Given the description of an element on the screen output the (x, y) to click on. 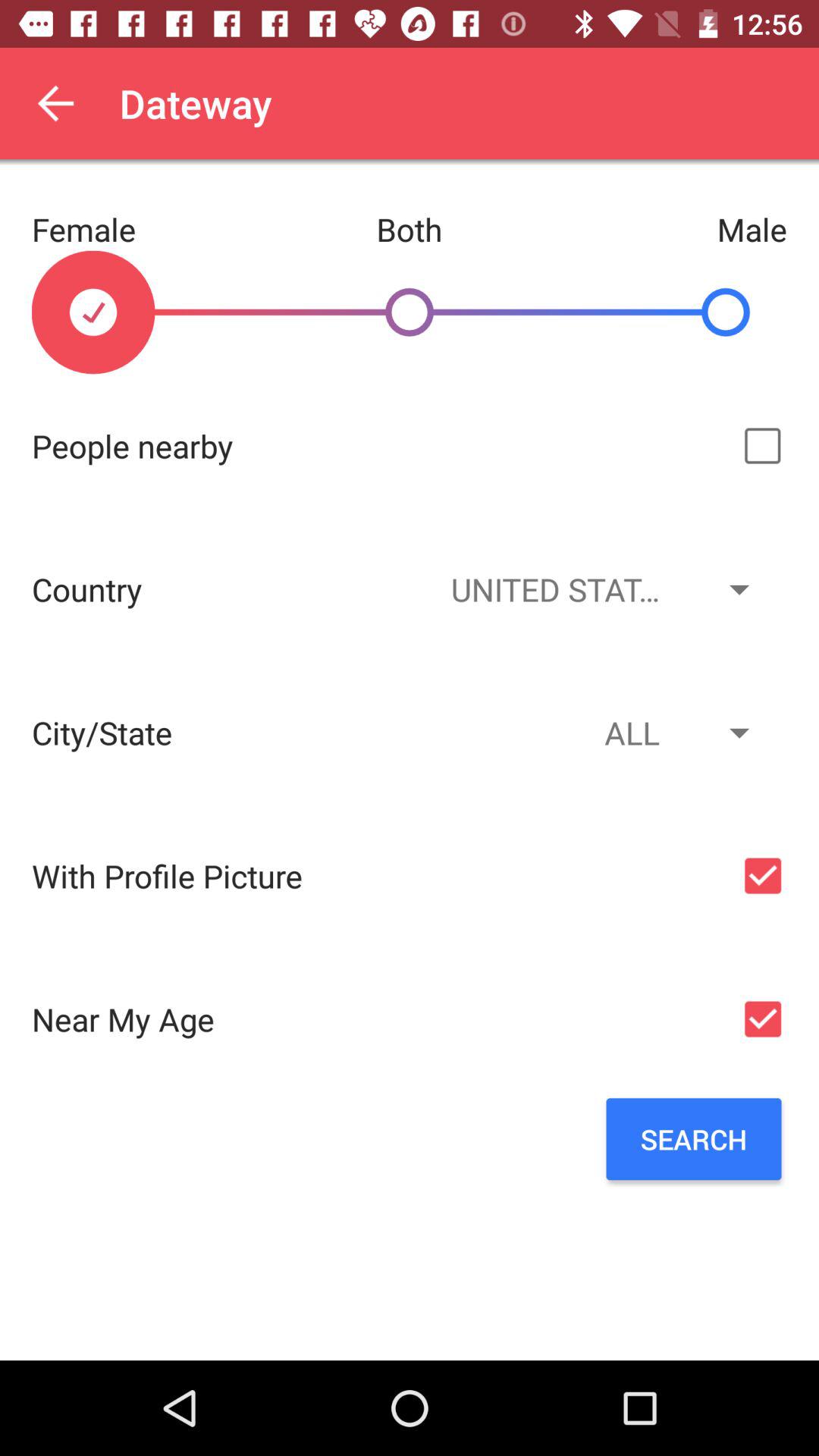
selective i cone (762, 445)
